Given the description of an element on the screen output the (x, y) to click on. 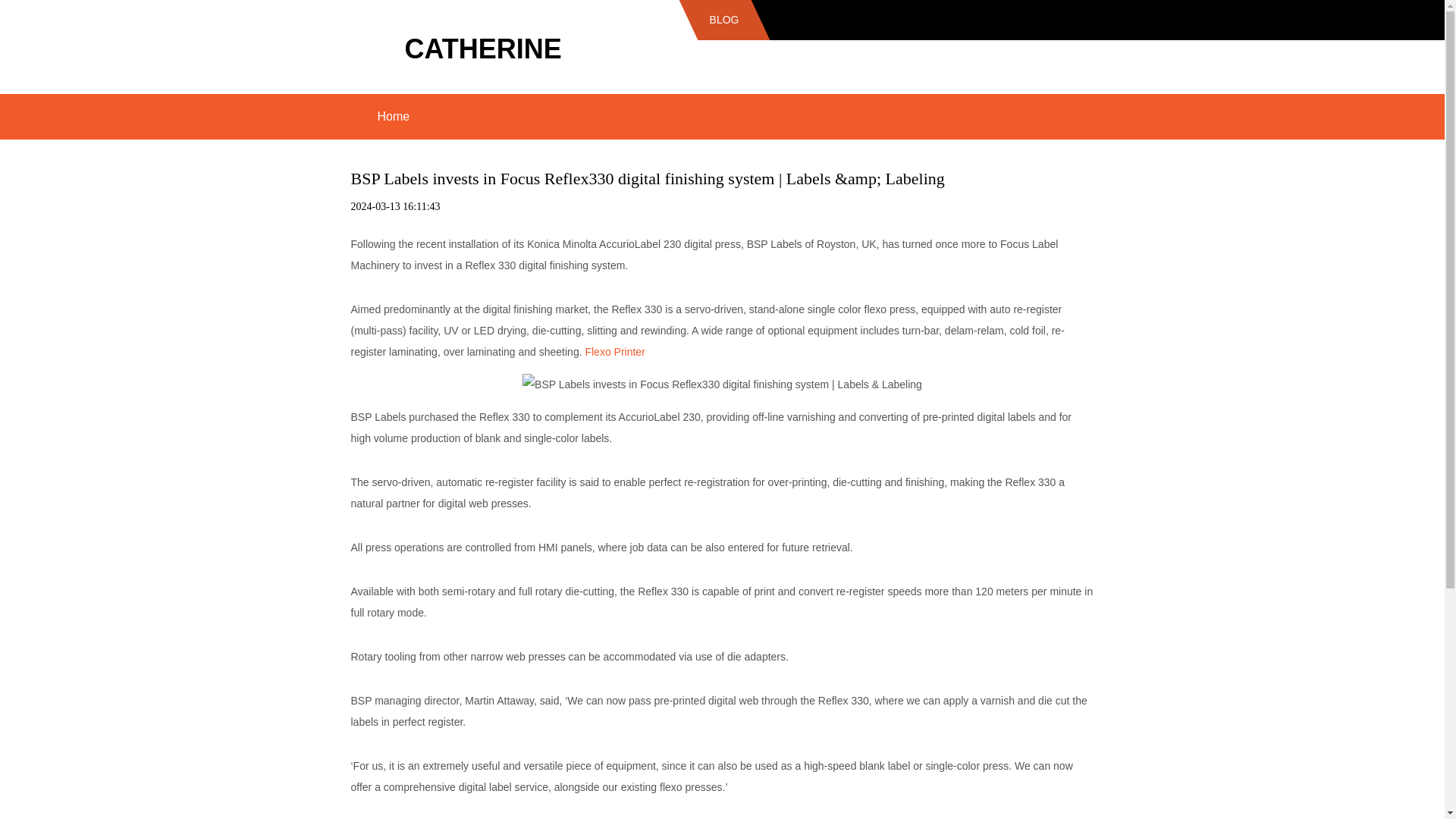
Home (392, 116)
Flexo Printer (615, 351)
